Given the description of an element on the screen output the (x, y) to click on. 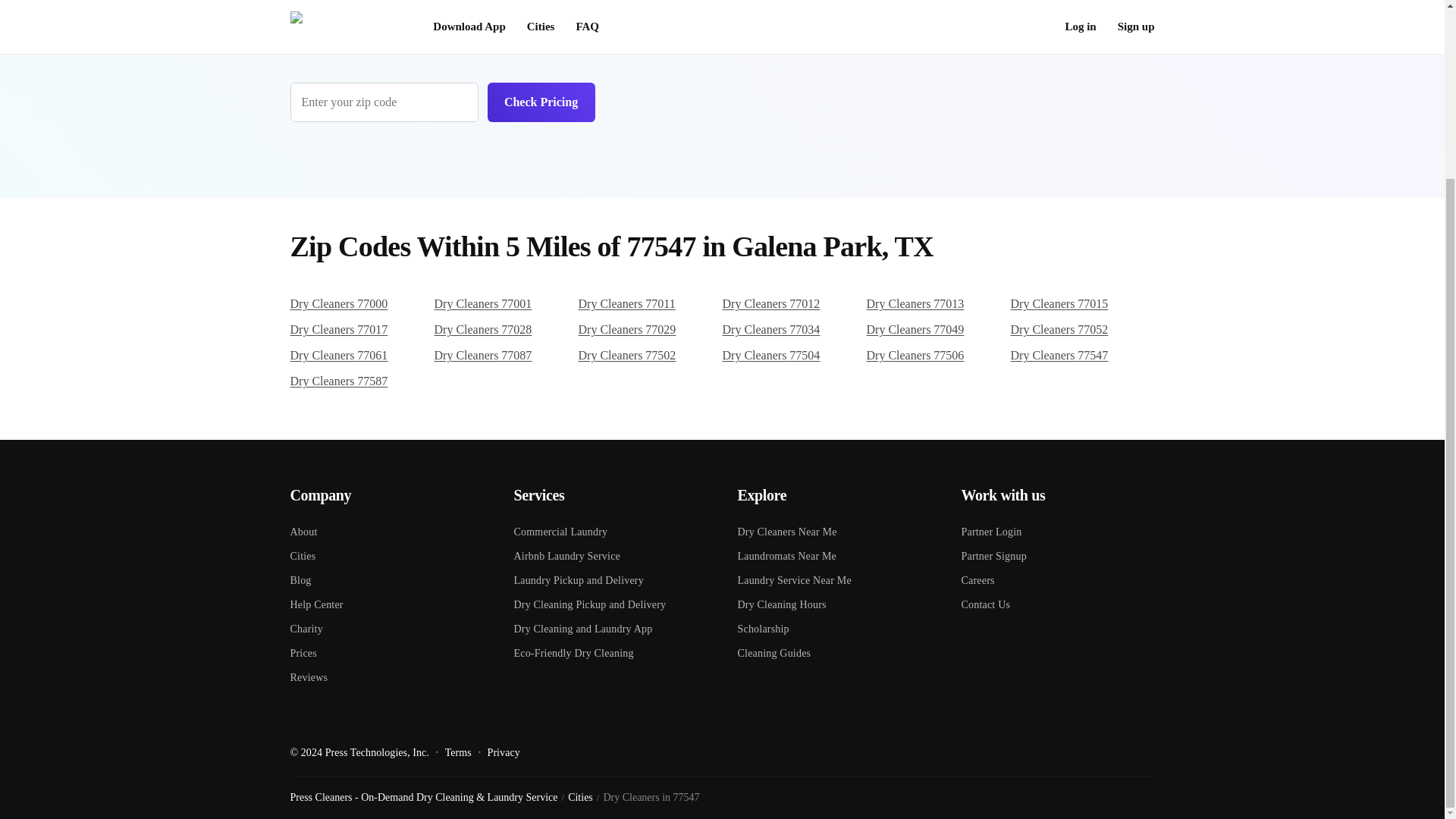
Blog (386, 574)
Dry Cleaning Pickup and Delivery (610, 598)
Airbnb Laundry Service (610, 550)
Eco-Friendly Dry Cleaning (610, 647)
Prices (386, 647)
About (386, 526)
Dry Cleaners 77502 (650, 355)
Commercial Laundry (610, 526)
Help Center (386, 598)
Dry Cleaners 77029 (650, 329)
Dry Cleaners 77087 (505, 355)
Reviews (386, 671)
Dry Cleaners 77028 (505, 329)
Charity (386, 622)
Dry Cleaners 77061 (361, 355)
